Given the description of an element on the screen output the (x, y) to click on. 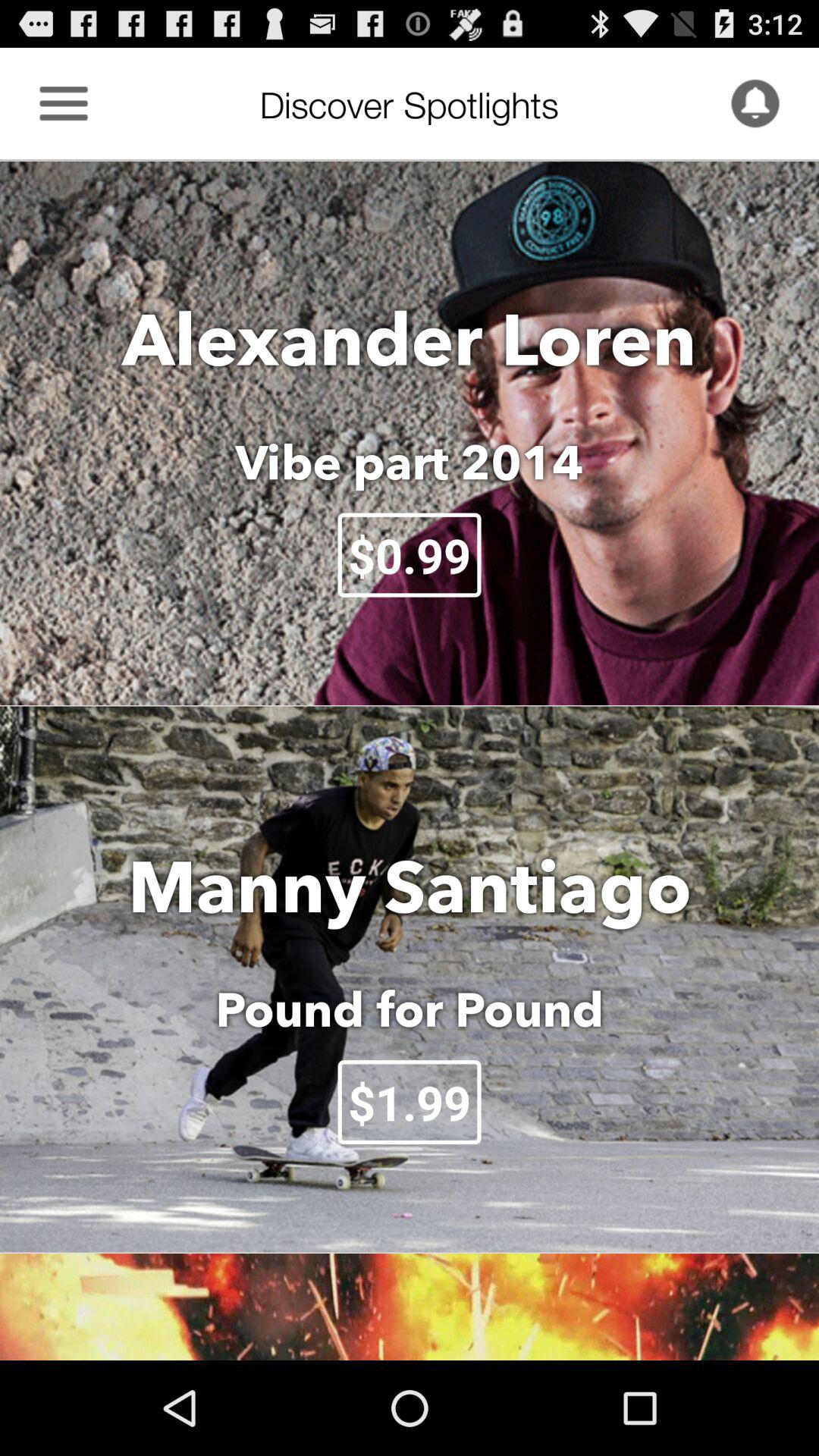
turn off the icon at the top left corner (63, 103)
